Given the description of an element on the screen output the (x, y) to click on. 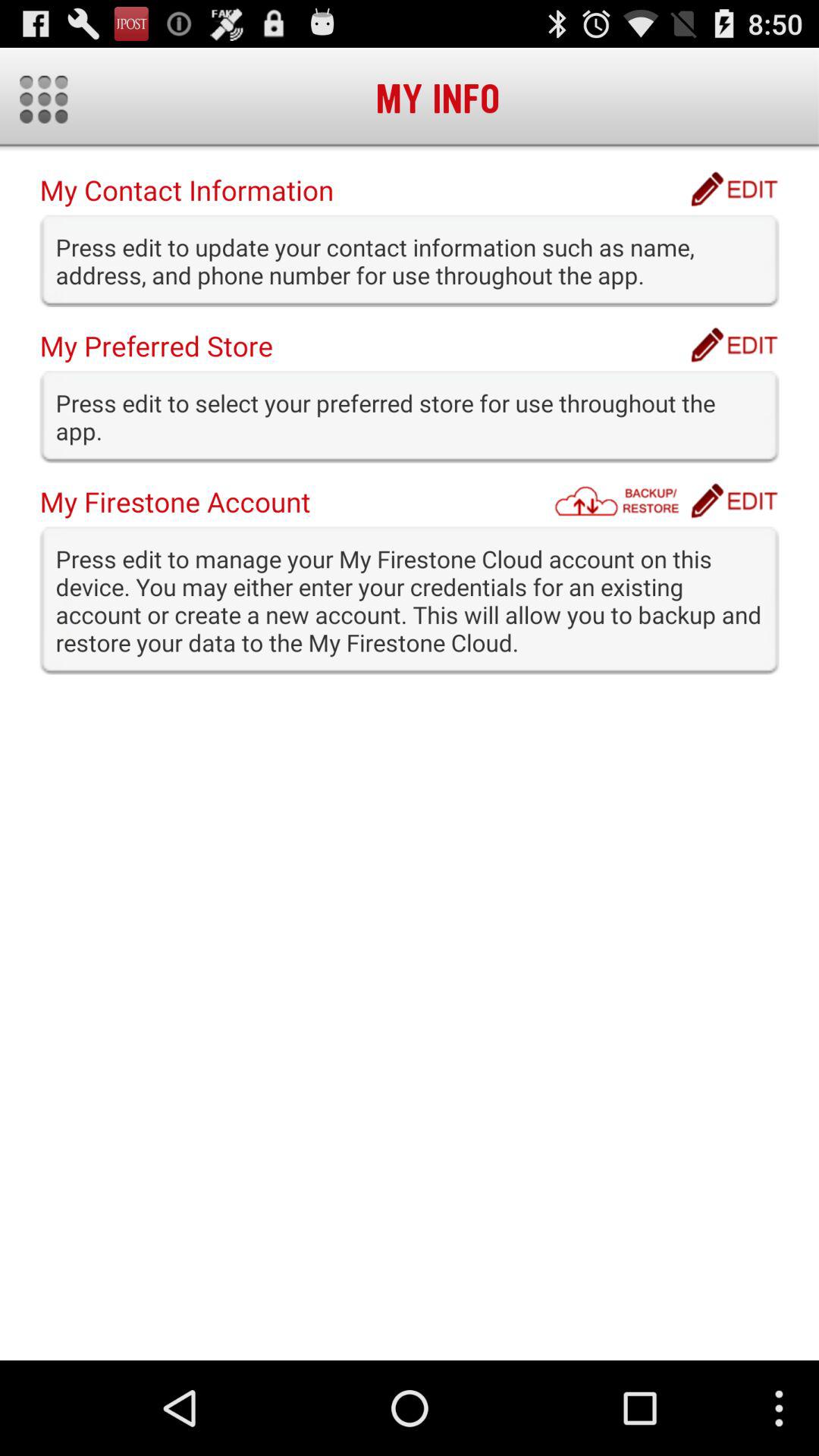
editar informaes (734, 189)
